Given the description of an element on the screen output the (x, y) to click on. 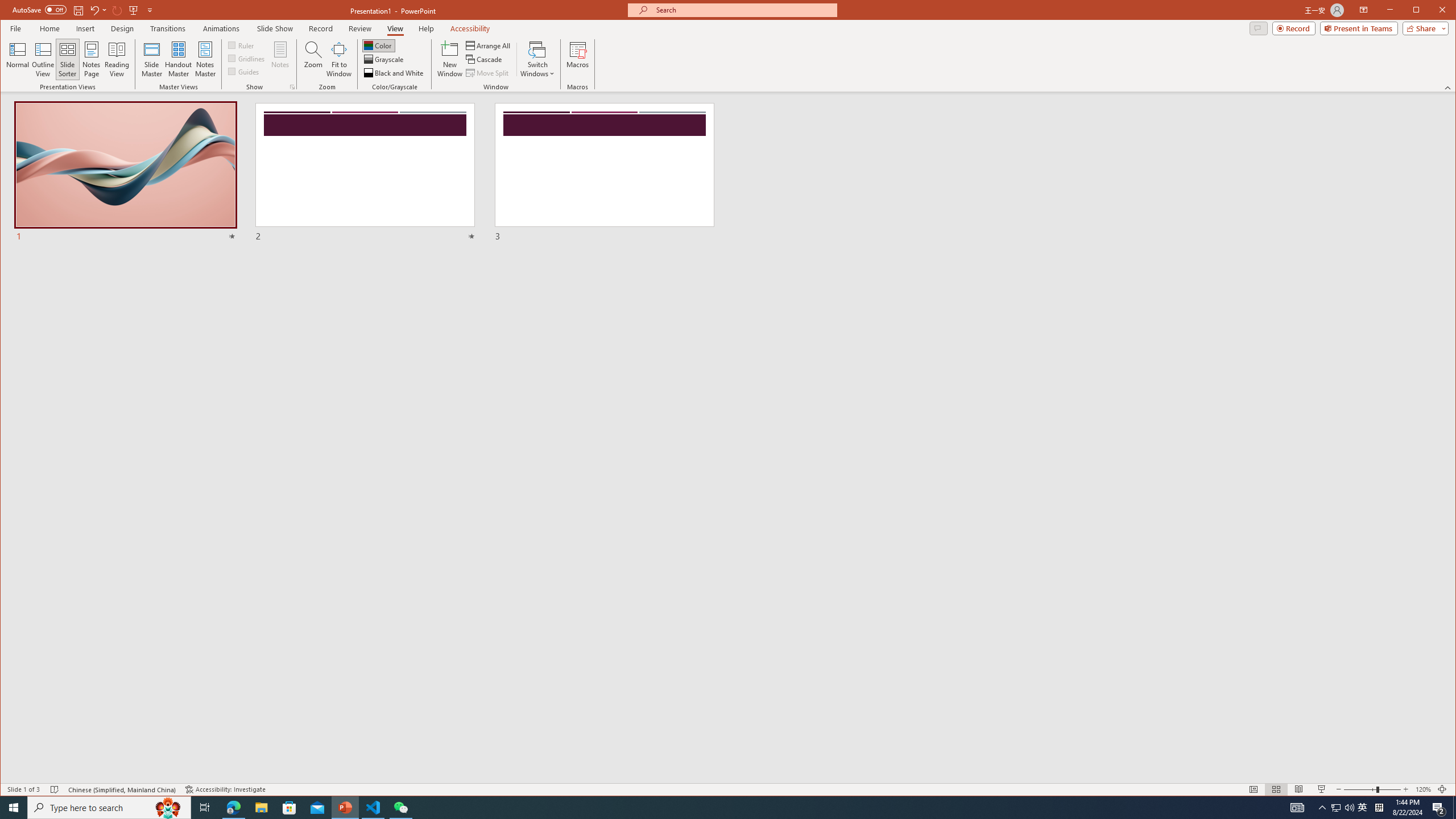
Macros (576, 59)
